Given the description of an element on the screen output the (x, y) to click on. 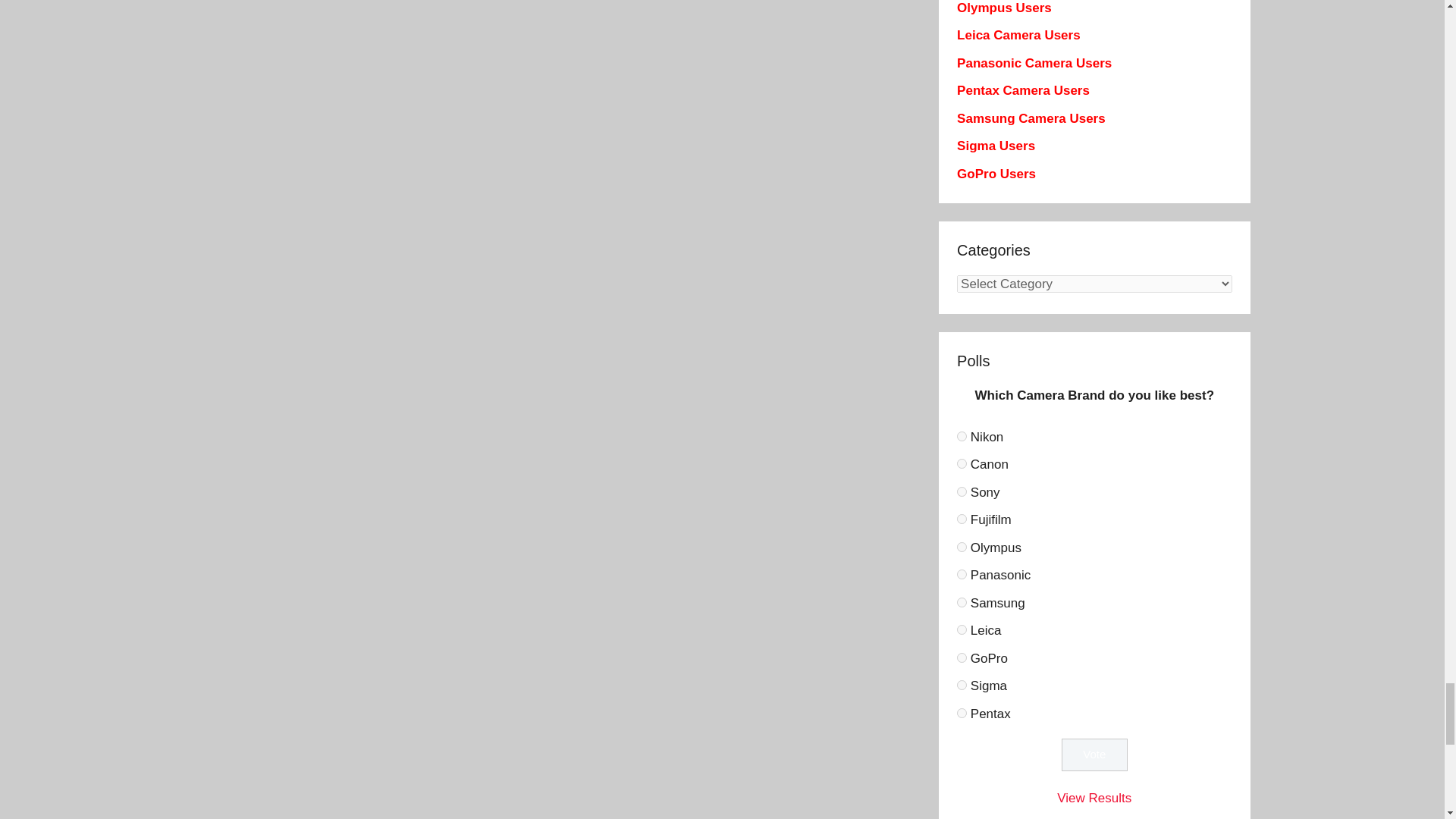
9 (961, 519)
11 (961, 574)
25 (961, 685)
6 (961, 436)
8 (961, 491)
10 (961, 547)
7 (961, 463)
24 (961, 657)
12 (961, 602)
26 (961, 713)
